Given the description of an element on the screen output the (x, y) to click on. 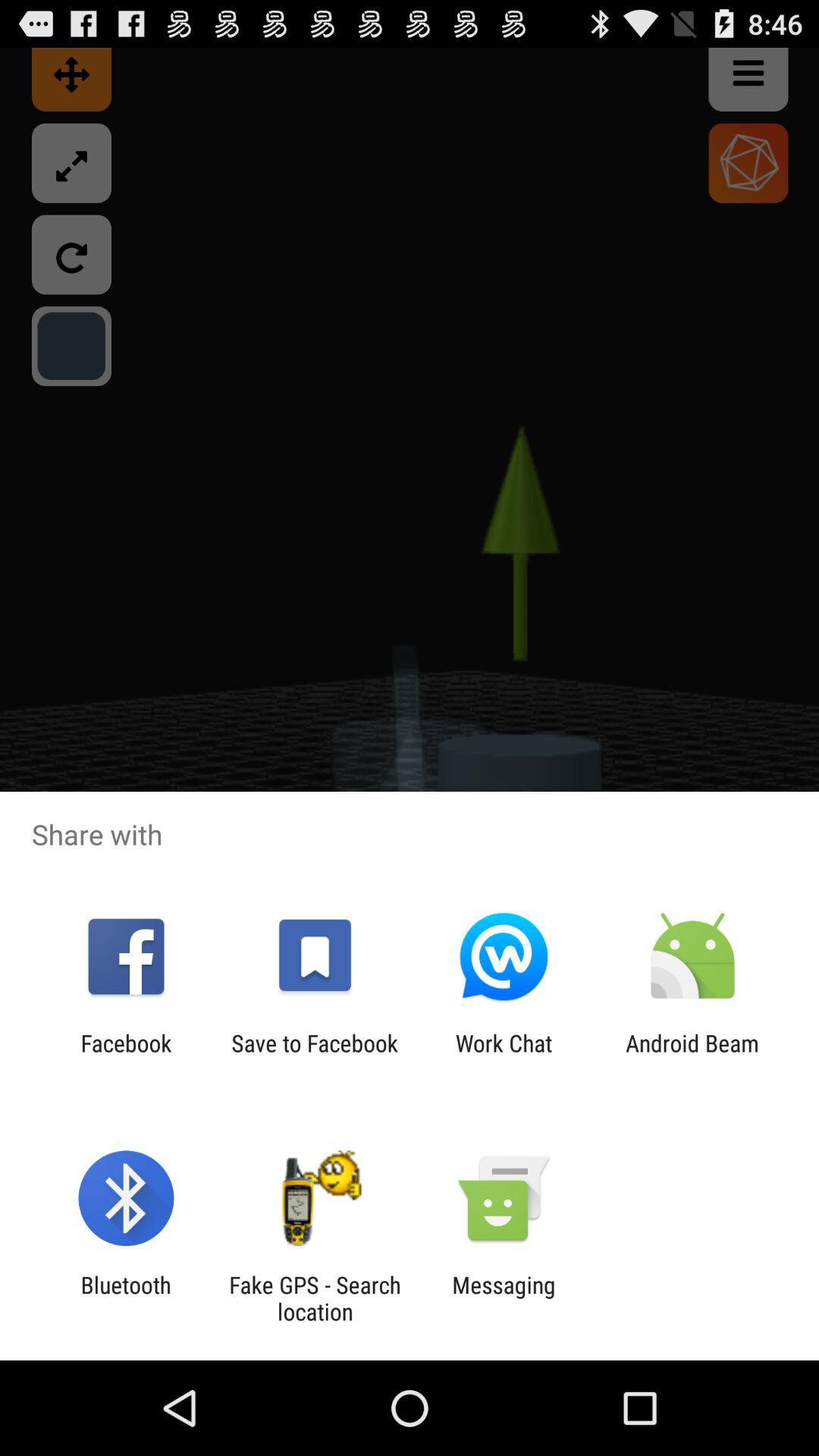
flip to the save to facebook (314, 1056)
